Given the description of an element on the screen output the (x, y) to click on. 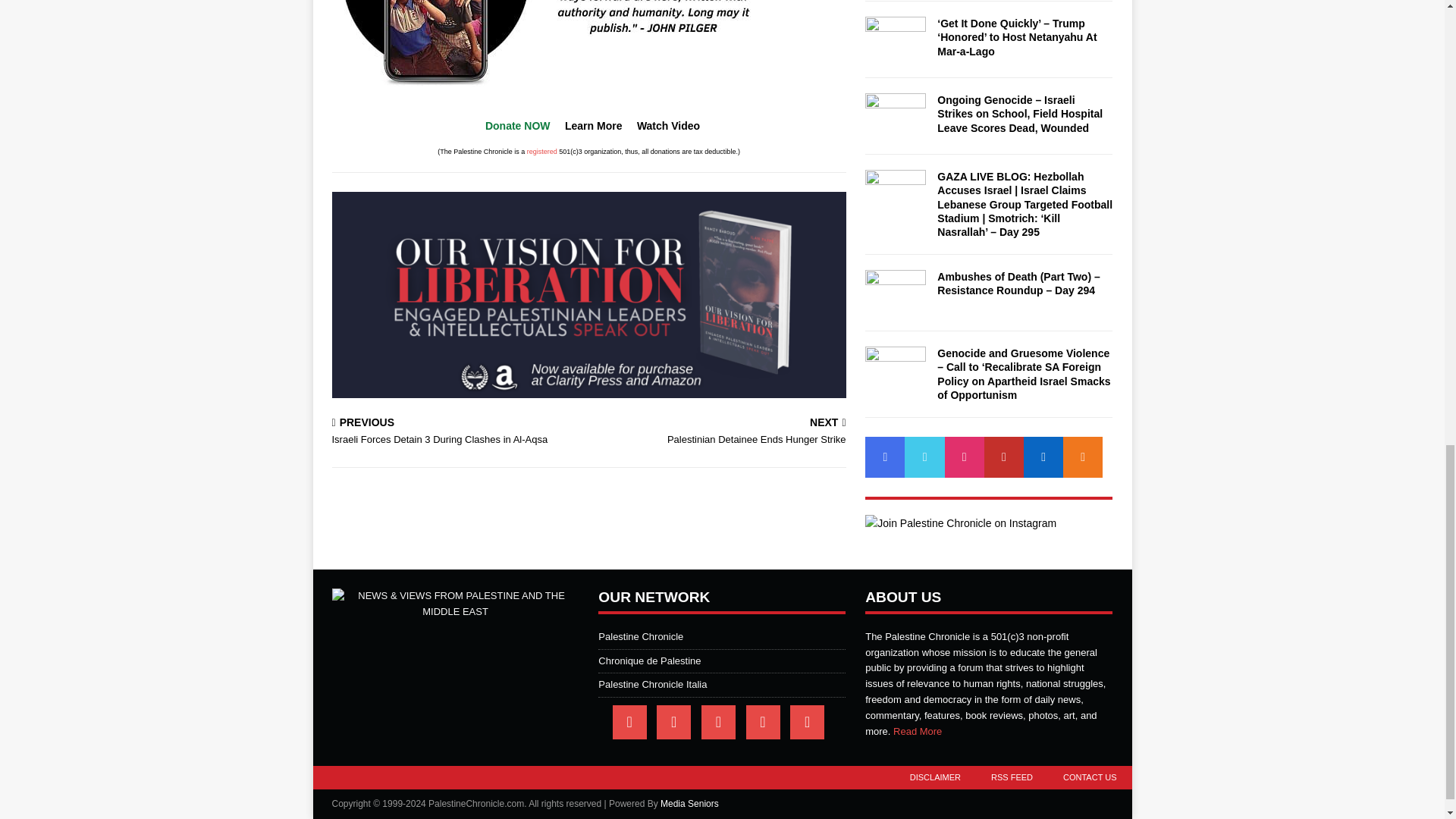
Watch Video (668, 125)
Donate NOW (517, 125)
Learn More (457, 431)
registered (592, 125)
